Given the description of an element on the screen output the (x, y) to click on. 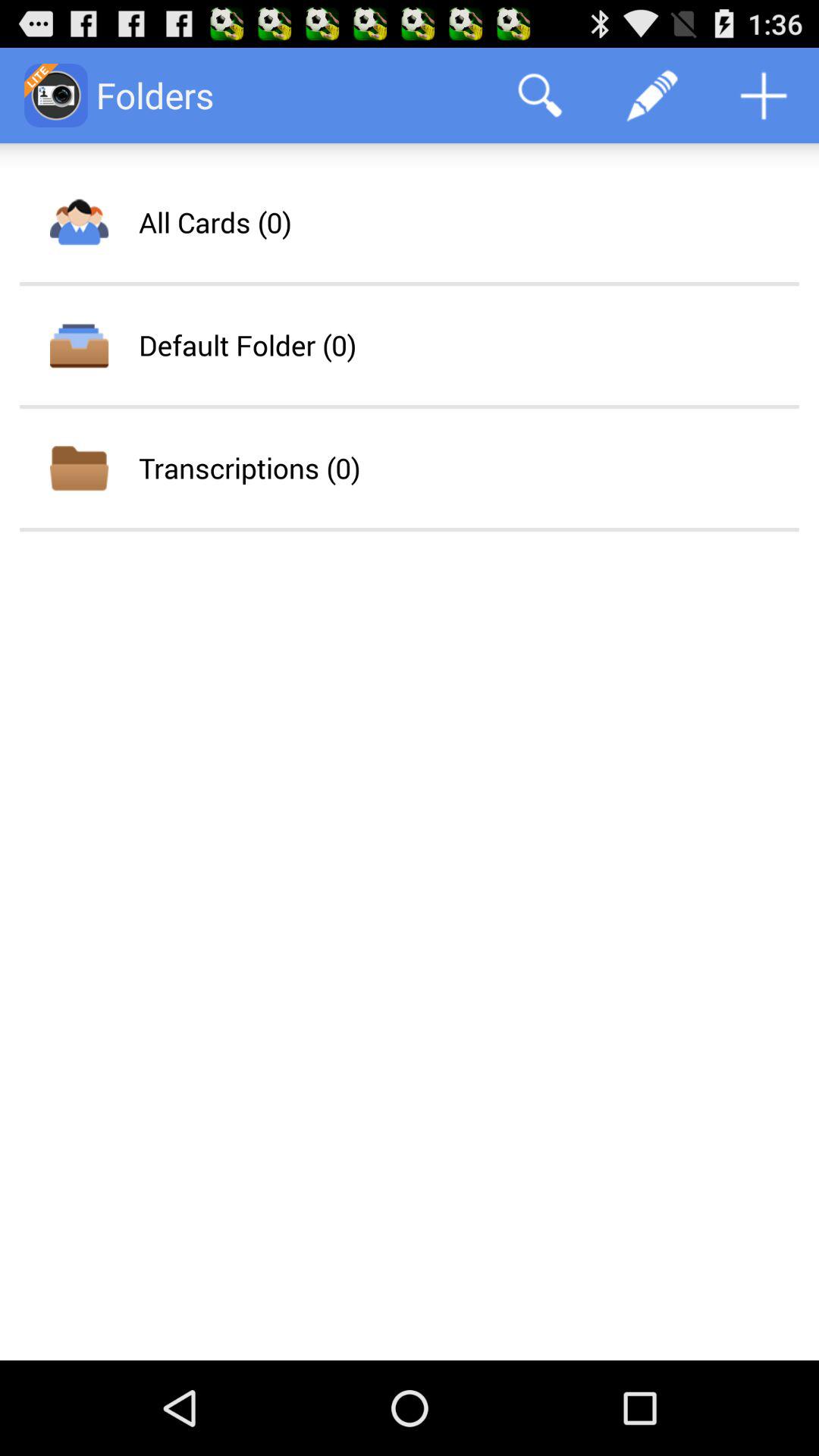
swipe to all cards (0) app (214, 222)
